Given the description of an element on the screen output the (x, y) to click on. 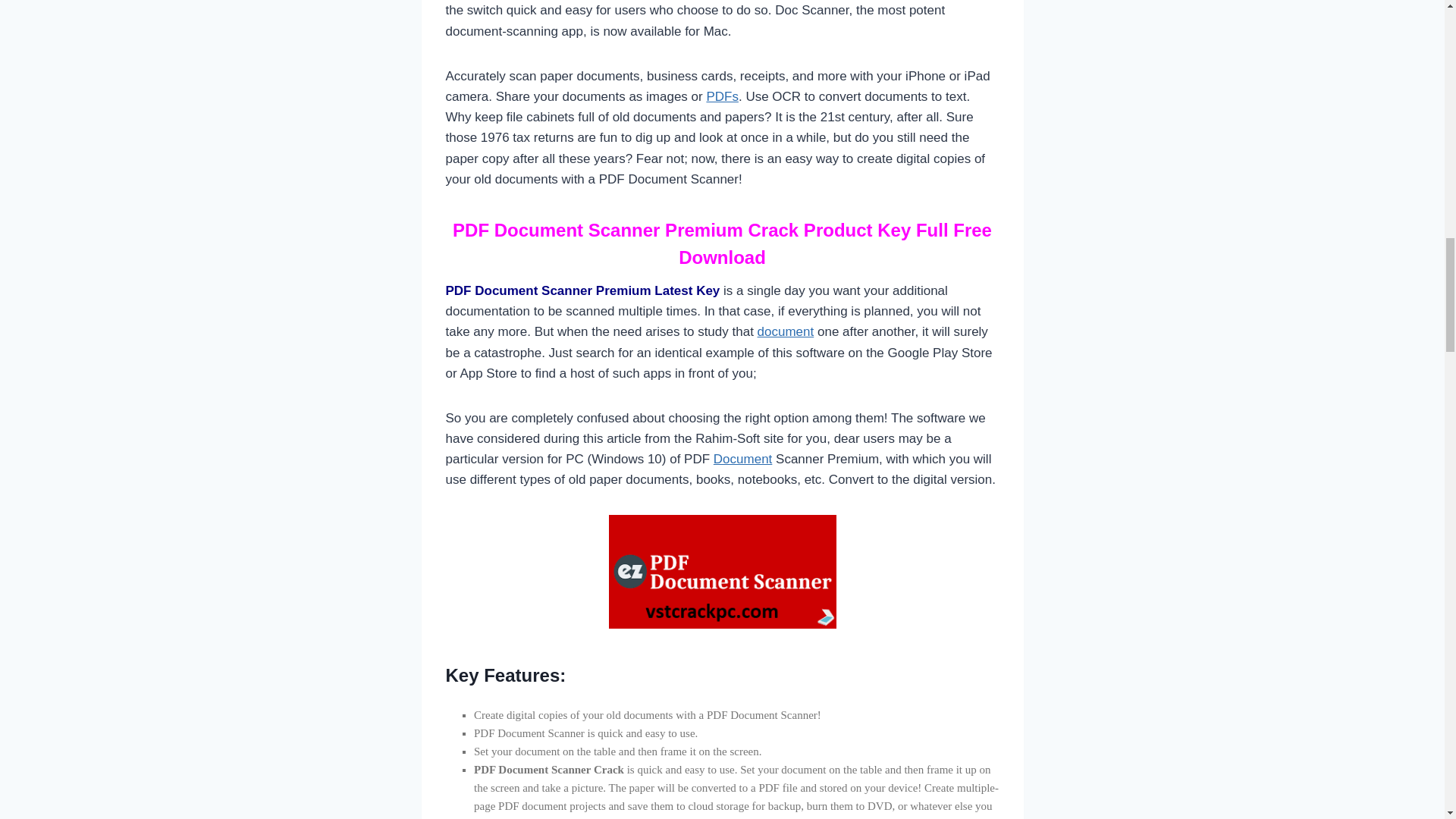
PDF Document Scanner Premium Crack (721, 571)
PDFs (722, 96)
document (785, 331)
Document (742, 459)
